Given the description of an element on the screen output the (x, y) to click on. 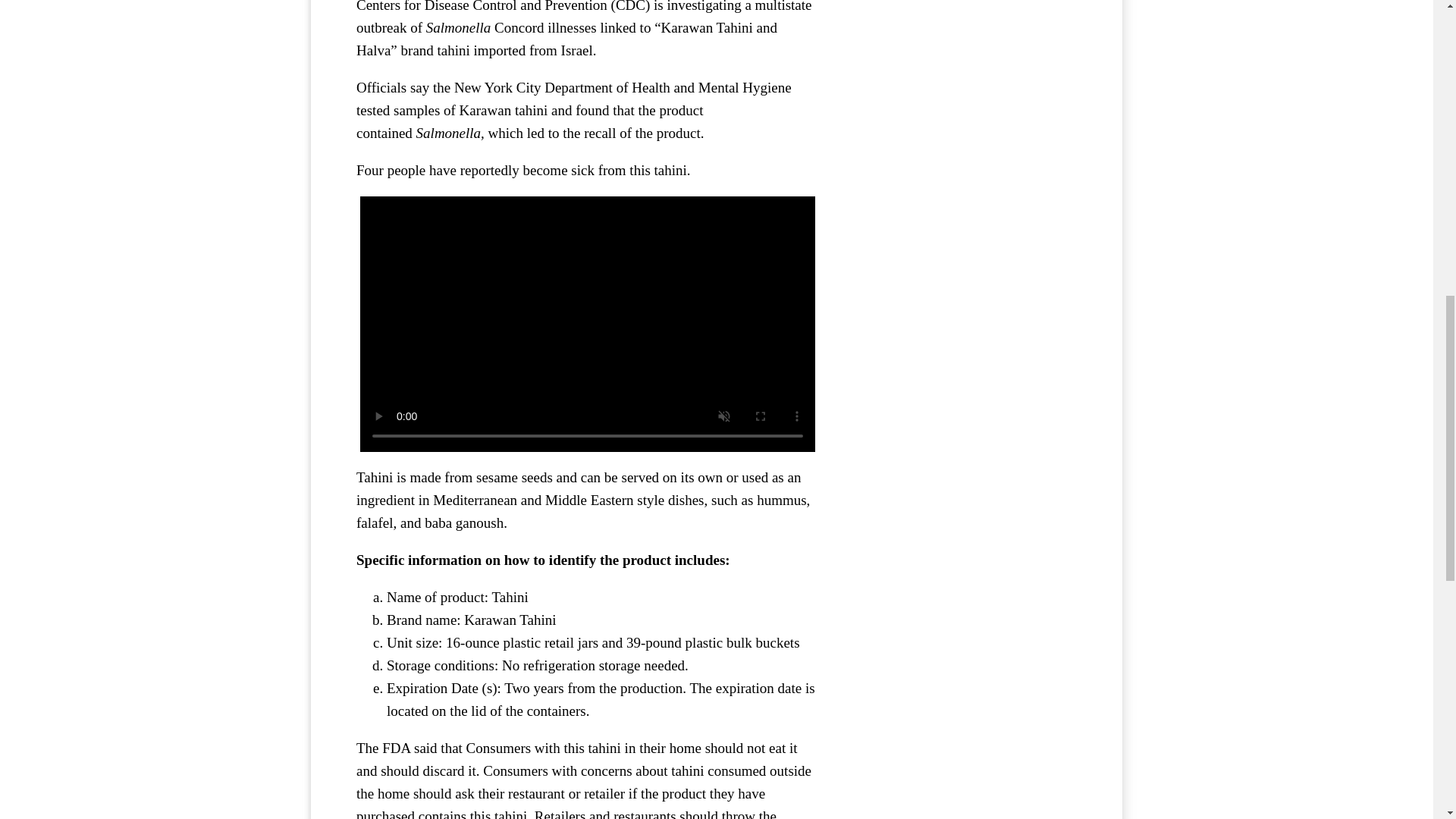
3rd party ad content (962, 57)
